Given the description of an element on the screen output the (x, y) to click on. 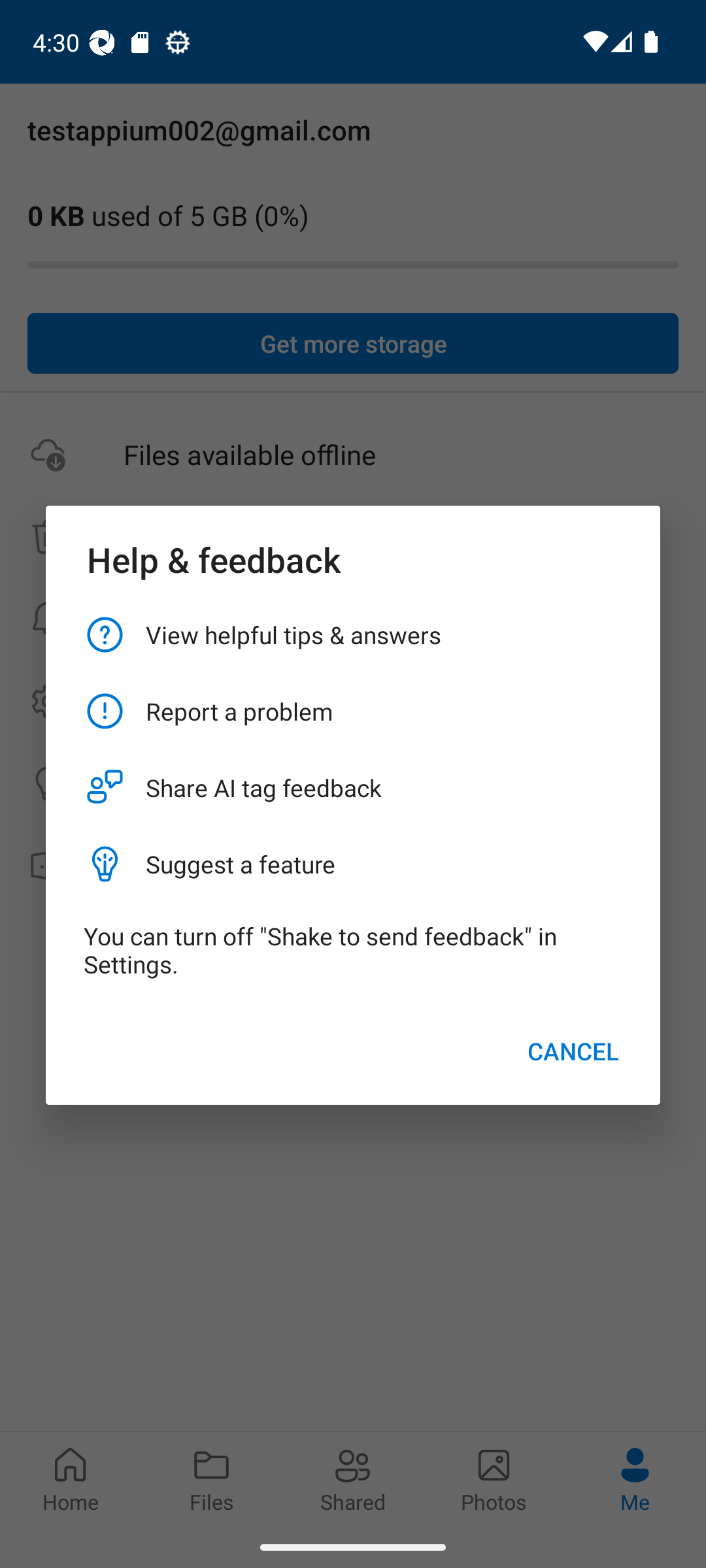
View helpful tips & answers (352, 633)
Report a problem (352, 710)
Share AI tag feedback (352, 787)
Suggest a feature (352, 863)
CANCEL (573, 1051)
